Given the description of an element on the screen output the (x, y) to click on. 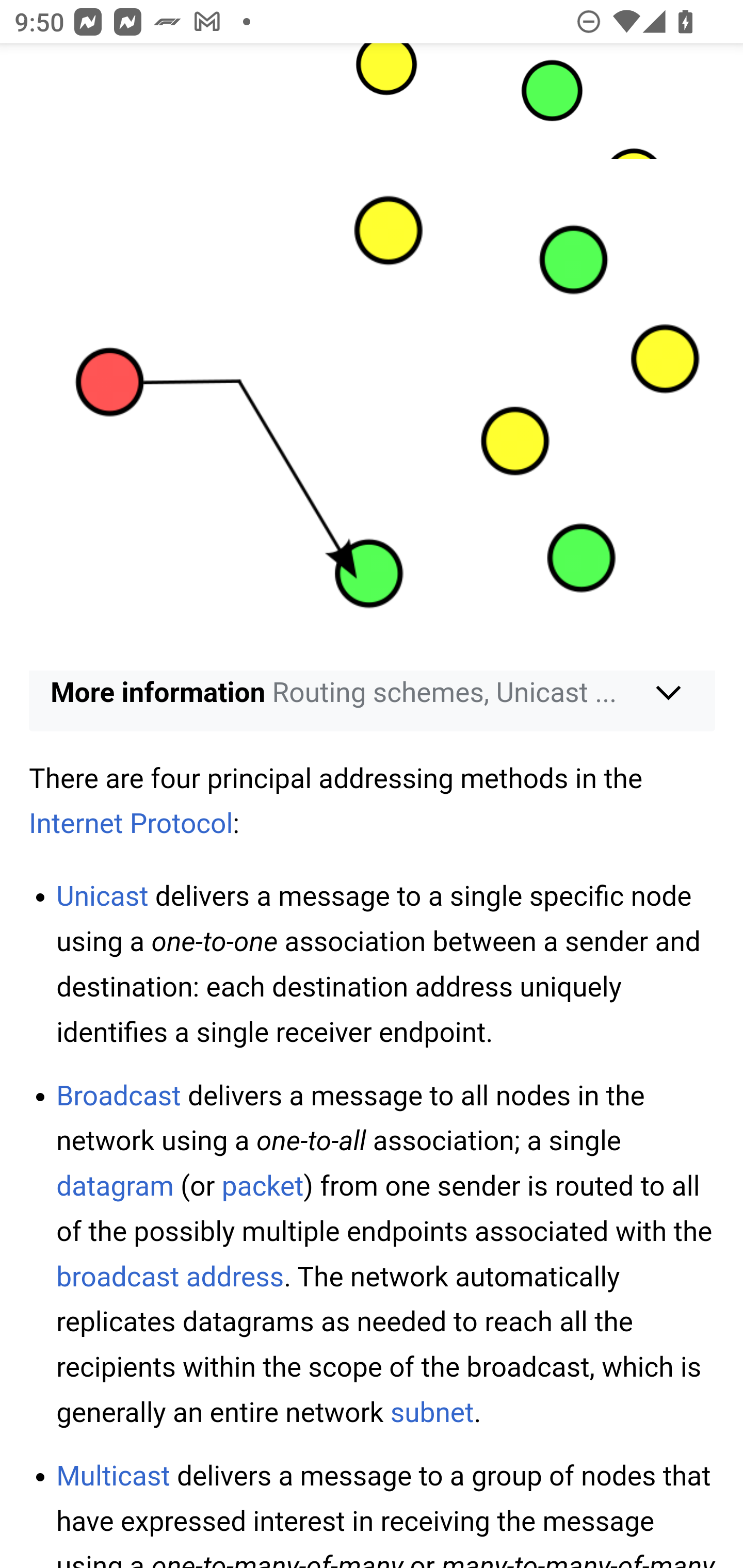
Expand table (372, 387)
Internet Protocol (131, 823)
Unicast (102, 896)
Broadcast (118, 1094)
datagram (114, 1186)
packet (262, 1186)
broadcast address (170, 1276)
subnet (432, 1412)
Multicast (113, 1475)
